Given the description of an element on the screen output the (x, y) to click on. 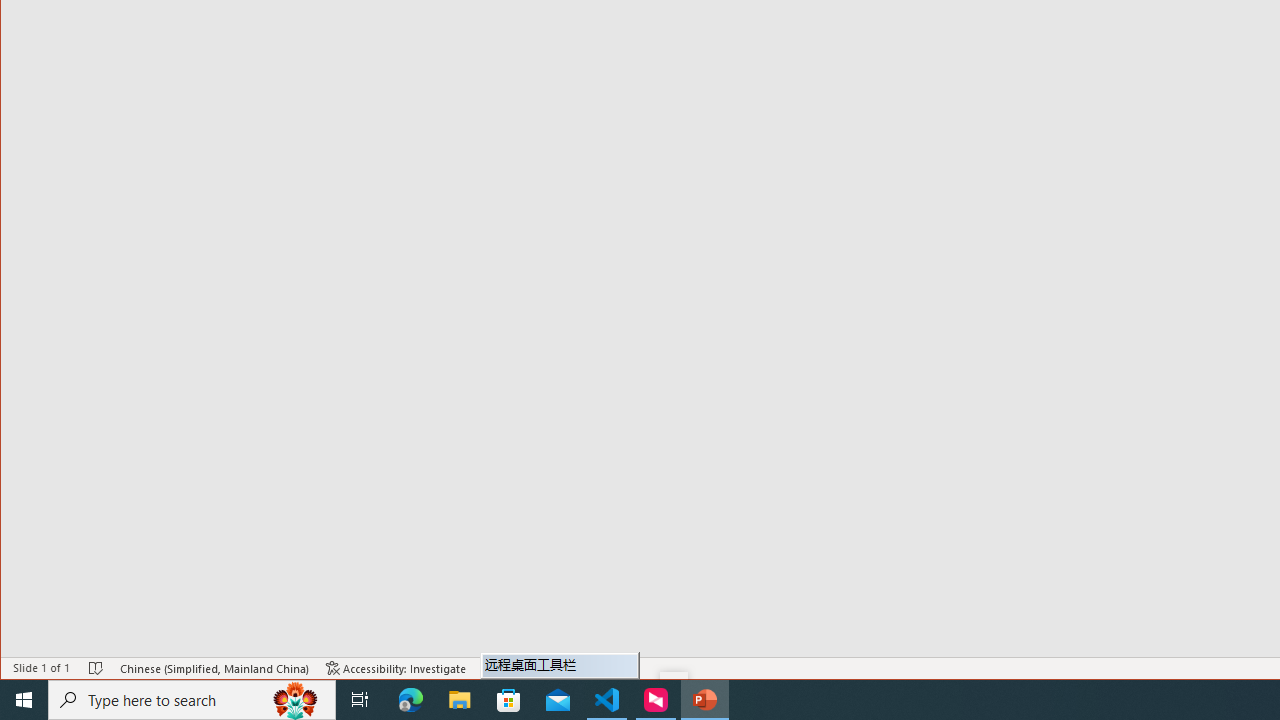
Microsoft Store (509, 699)
File Explorer (460, 699)
PowerPoint - 1 running window (704, 699)
Microsoft Edge (411, 699)
Visual Studio Code - 1 running window (607, 699)
Task View (359, 699)
Type here to search (191, 699)
Search highlights icon opens search home window (295, 699)
